Given the description of an element on the screen output the (x, y) to click on. 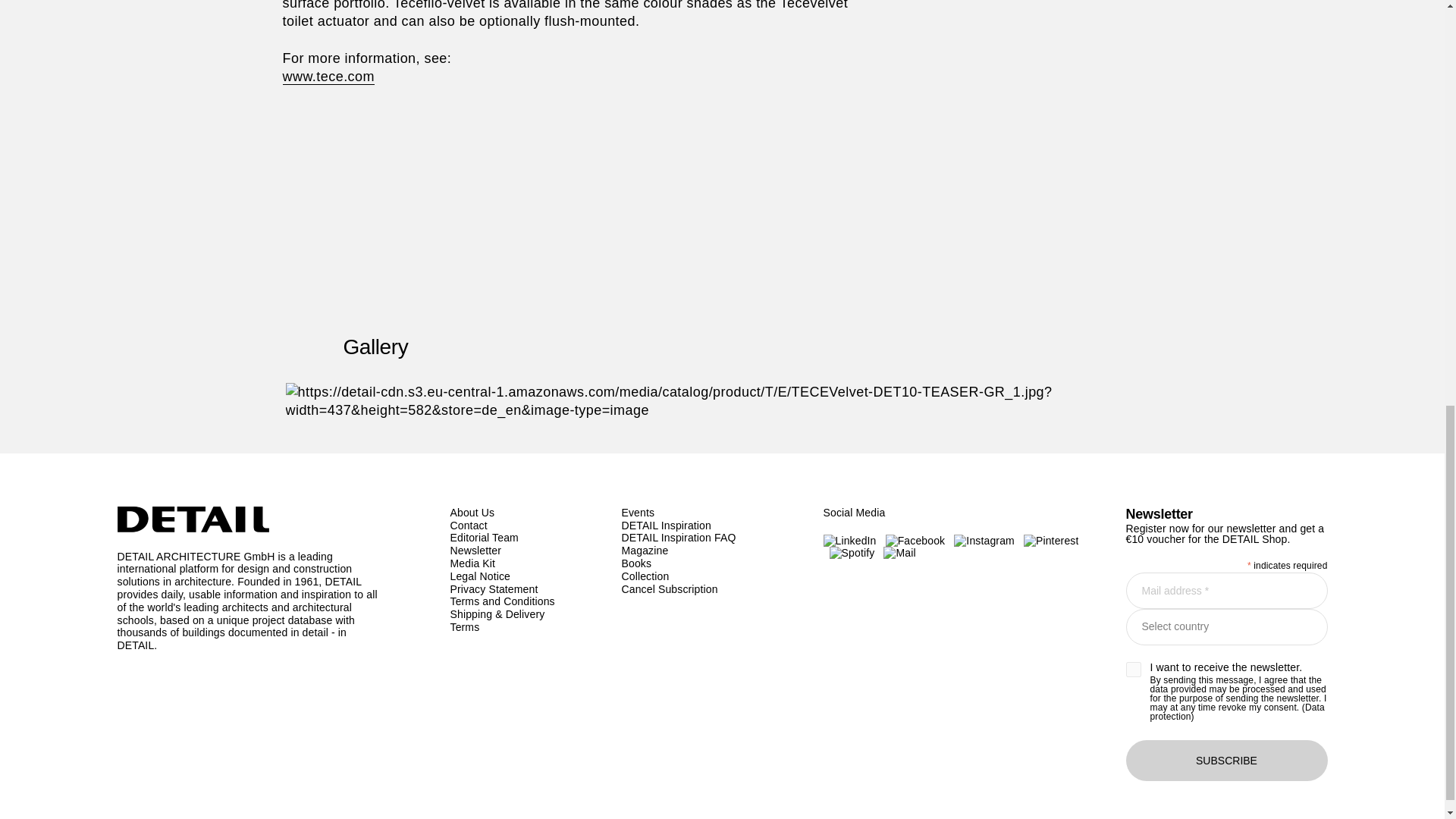
SUBSCRIBE (1225, 760)
Opens external link in new window (328, 76)
on (1132, 669)
